Given the description of an element on the screen output the (x, y) to click on. 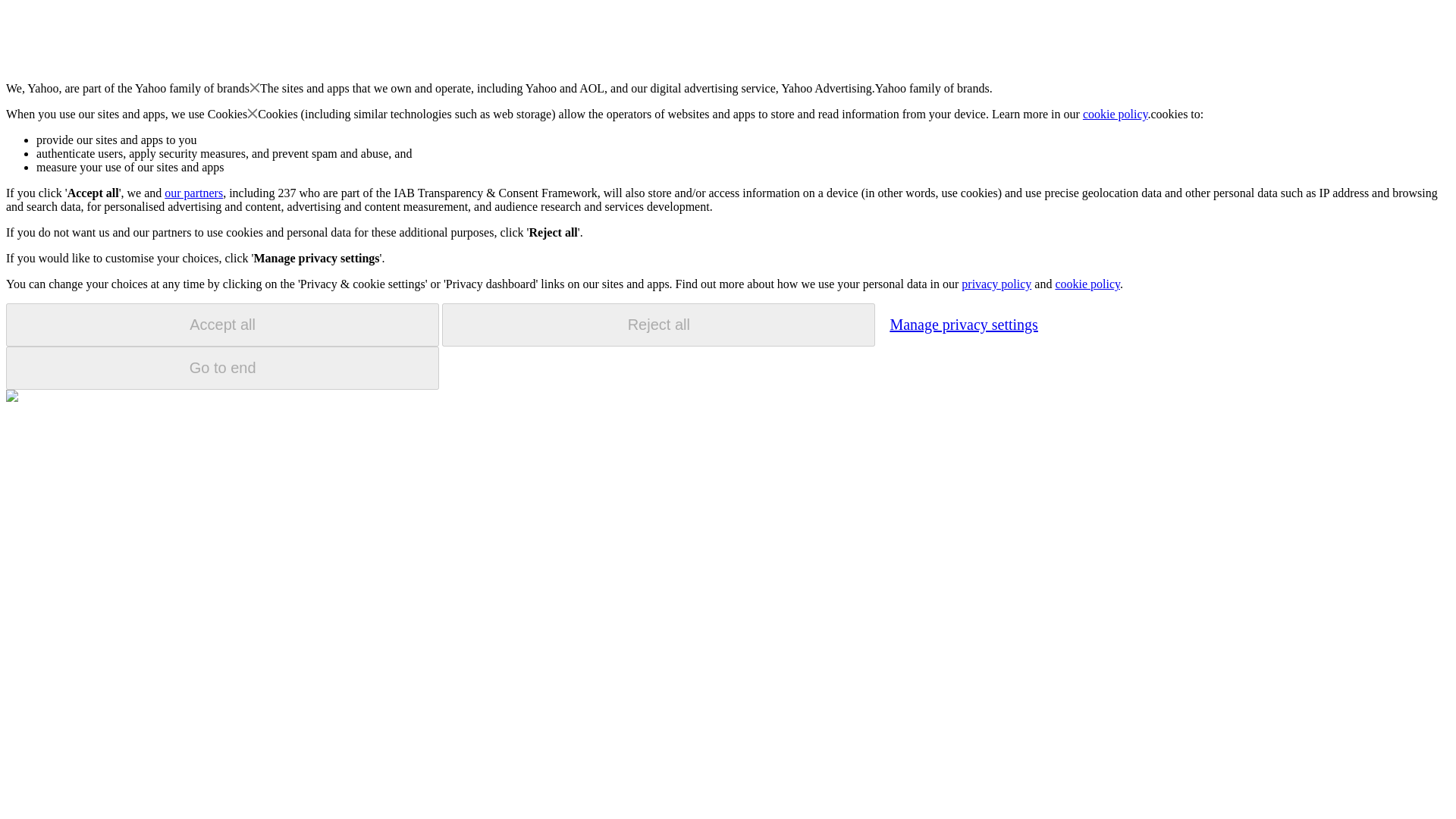
Manage privacy settings (963, 323)
cookie policy (1115, 113)
Reject all (658, 324)
our partners (193, 192)
Go to end (222, 367)
Accept all (222, 324)
cookie policy (1086, 283)
privacy policy (995, 283)
